Given the description of an element on the screen output the (x, y) to click on. 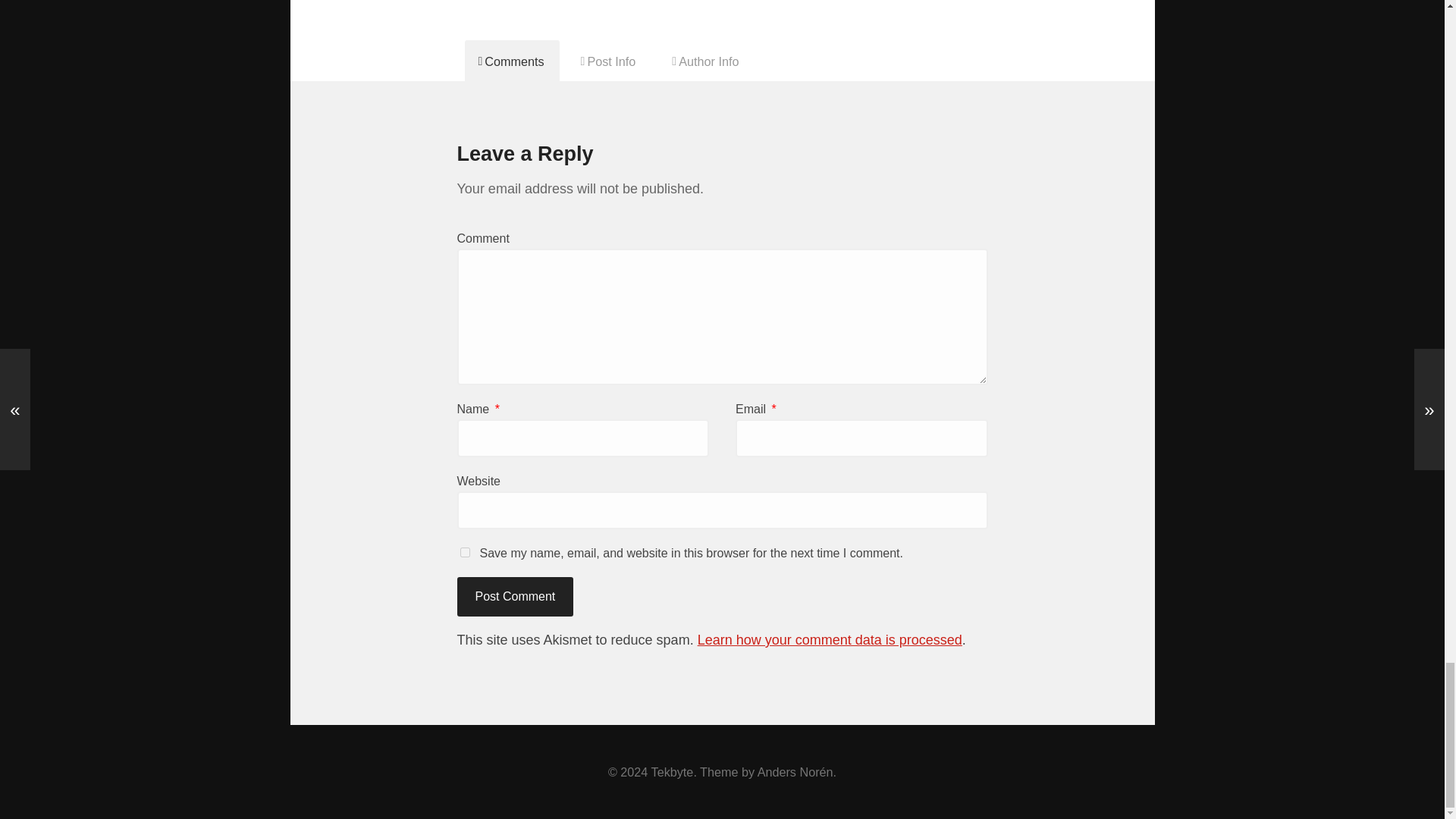
Learn how your comment data is processed (829, 639)
Author Info (706, 60)
Post Comment (515, 596)
yes (464, 552)
Comments (511, 60)
Post Info (608, 60)
Post Comment (515, 596)
